Given the description of an element on the screen output the (x, y) to click on. 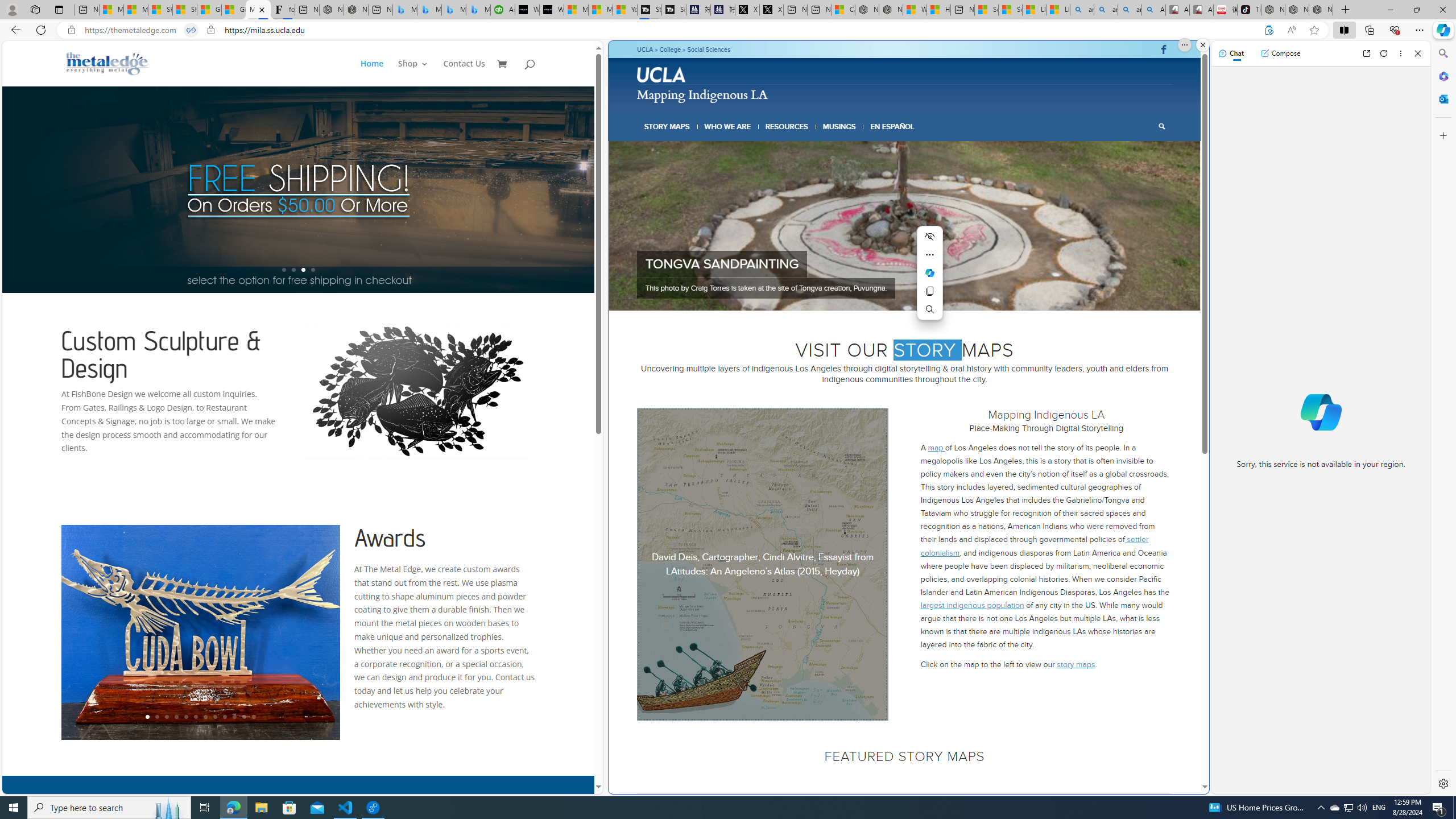
What's the best AI voice generator? - voice.ai (551, 9)
Restore (1416, 9)
sandpainting cropped (904, 225)
Mapping Indigenous LA (258, 9)
Close (1417, 53)
Mini menu on text selection (930, 280)
map  (935, 447)
11 (243, 716)
Close tab (261, 9)
Open link in new tab (1366, 53)
Home (377, 72)
Contact Us (463, 72)
Side bar (1443, 418)
